Given the description of an element on the screen output the (x, y) to click on. 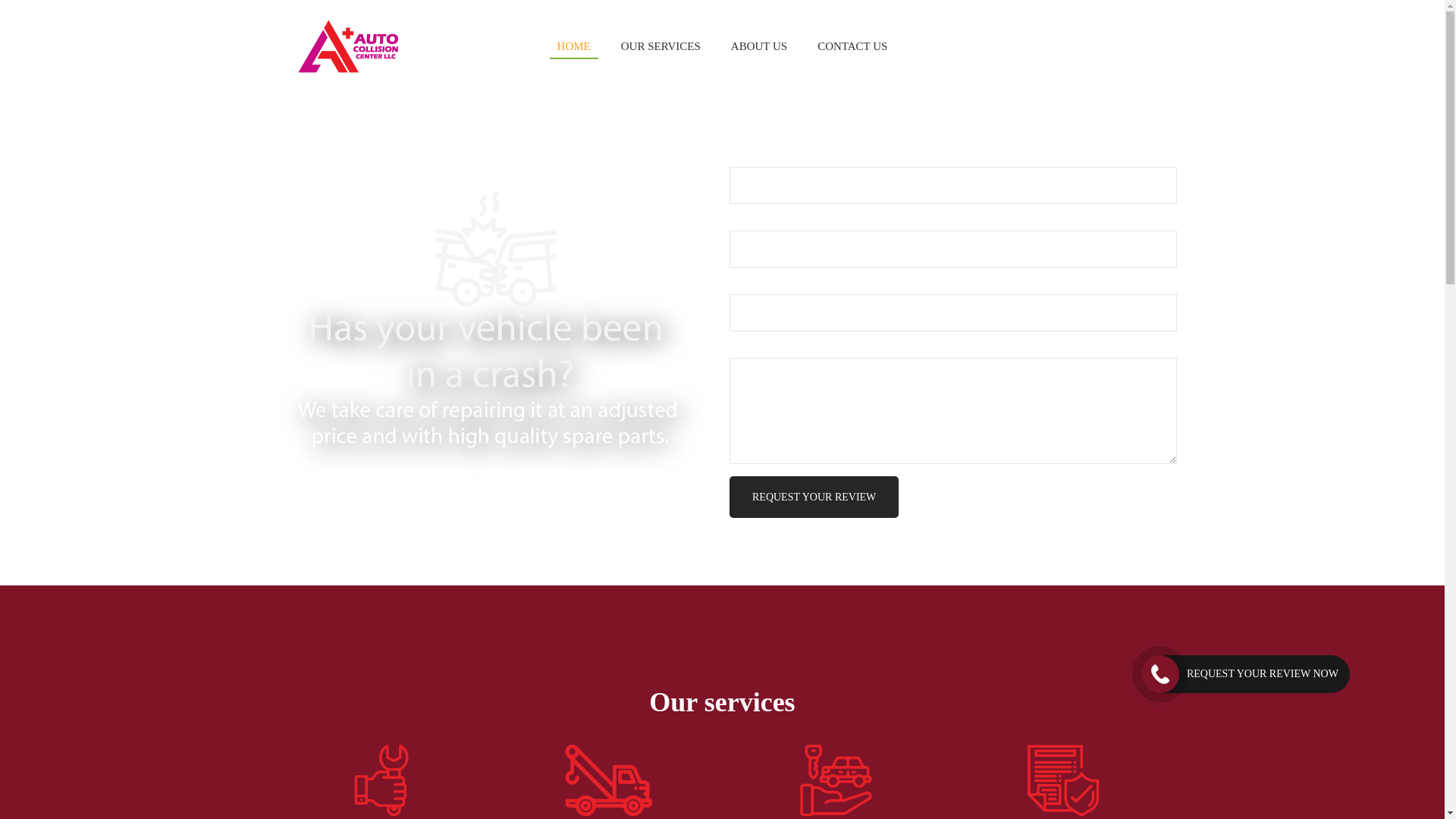
CONTACT US (852, 46)
ABOUT US (758, 46)
HOME (574, 46)
Request your review (813, 496)
Request your review (813, 496)
OUR SERVICES (659, 46)
